Given the description of an element on the screen output the (x, y) to click on. 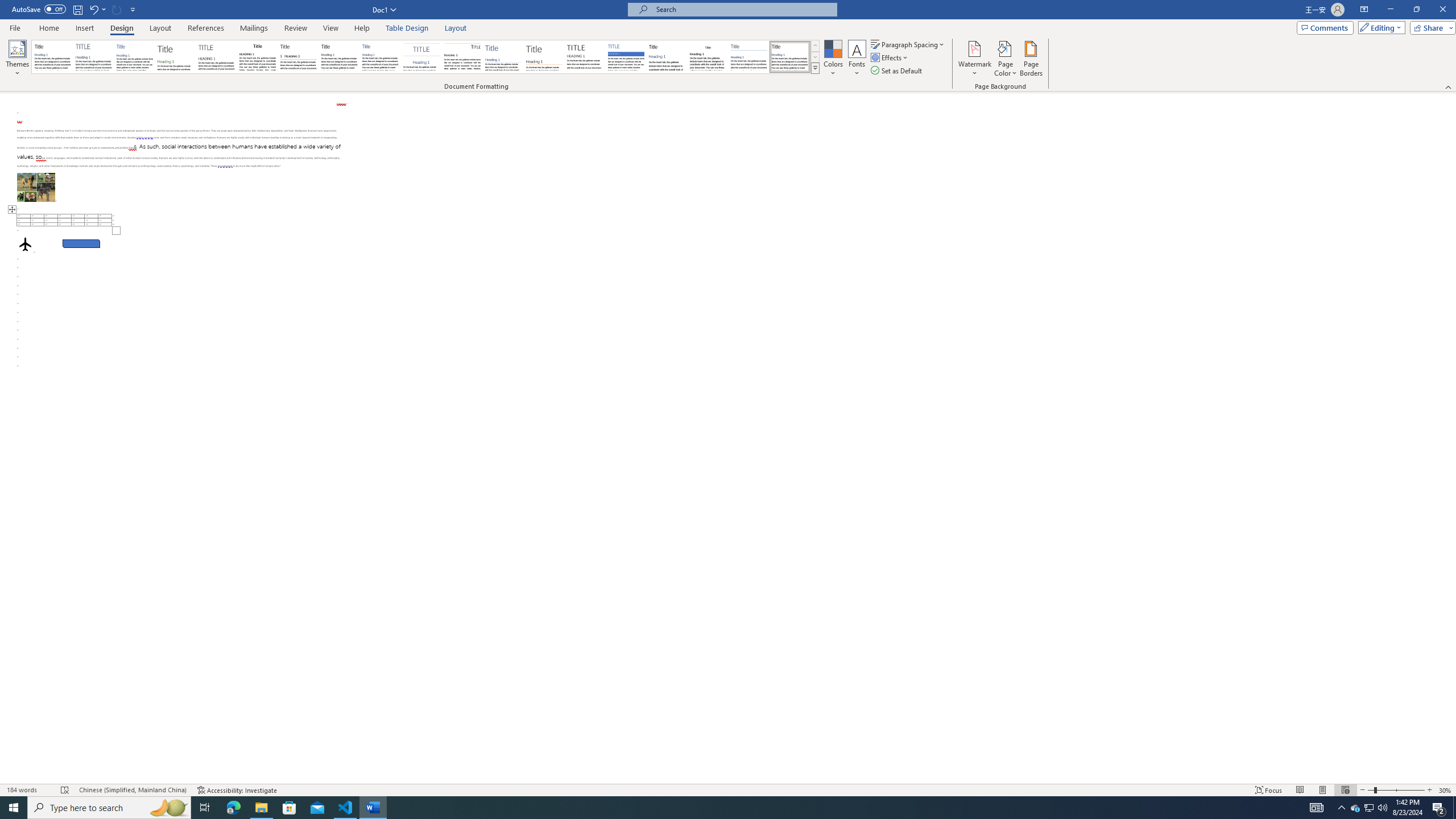
Effects (890, 56)
Minimalist (584, 56)
Black & White (Word 2013) (338, 56)
Black & White (Numbered) (298, 56)
Themes (17, 58)
Zoom 30% (1445, 790)
Word 2010 (749, 56)
Undo Apply Quick Style Set (96, 9)
